Given the description of an element on the screen output the (x, y) to click on. 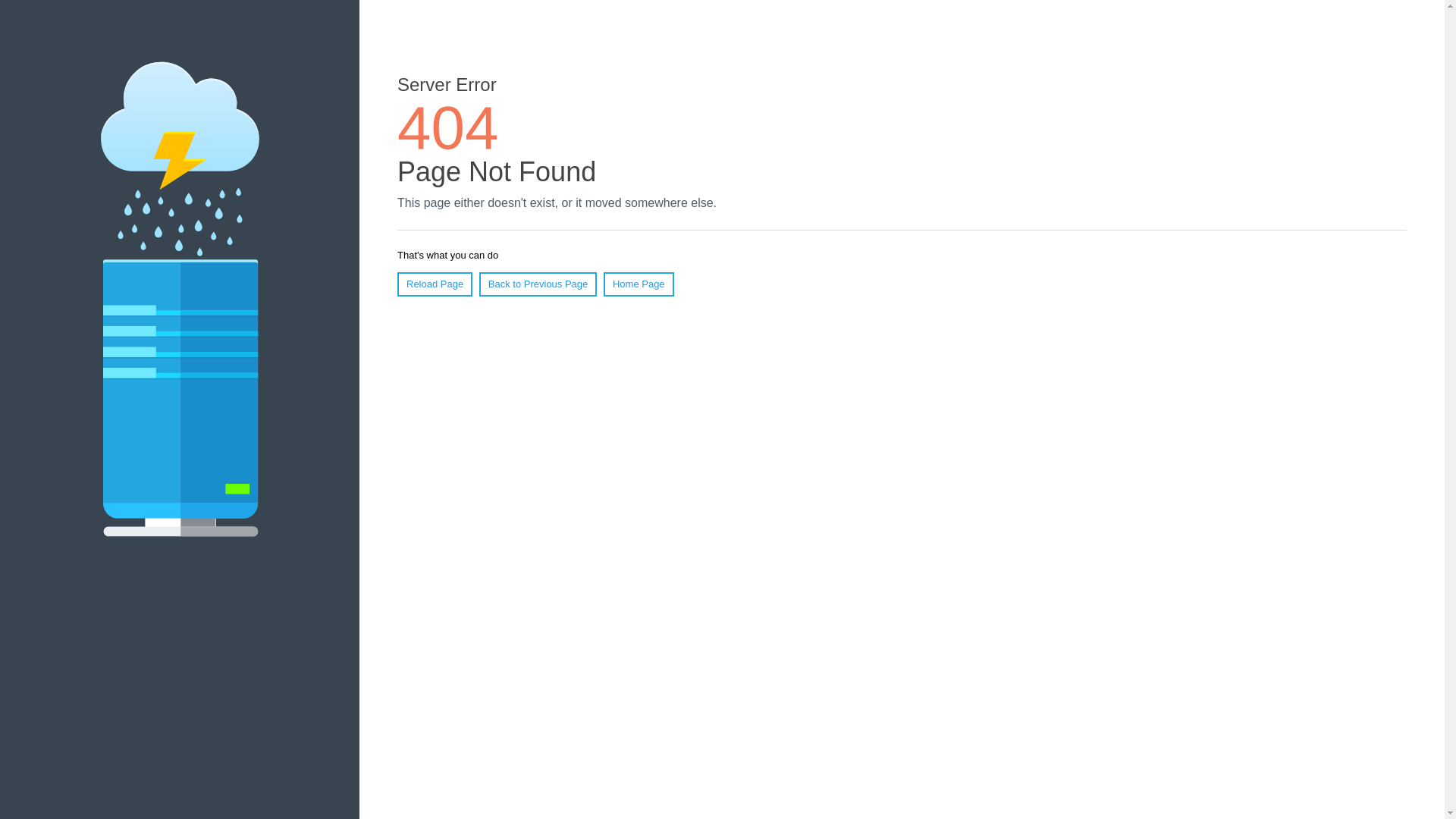
Reload Page Element type: text (434, 284)
Home Page Element type: text (638, 284)
Back to Previous Page Element type: text (538, 284)
